Given the description of an element on the screen output the (x, y) to click on. 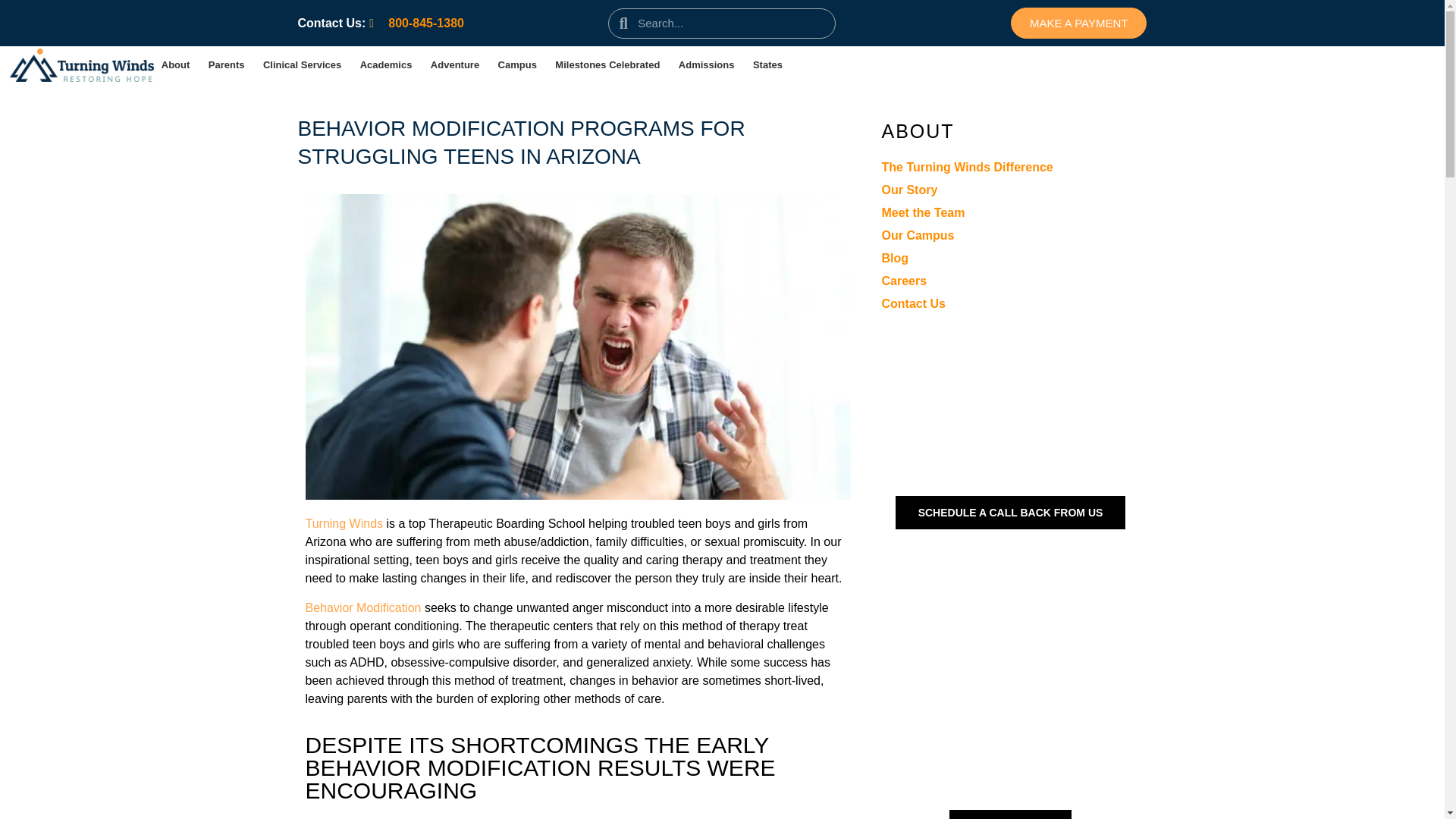
Parents (226, 64)
MAKE A PAYMENT (1078, 22)
800-845-1380 (416, 22)
About (175, 64)
TW-LOGOS-MASTER (82, 64)
